Given the description of an element on the screen output the (x, y) to click on. 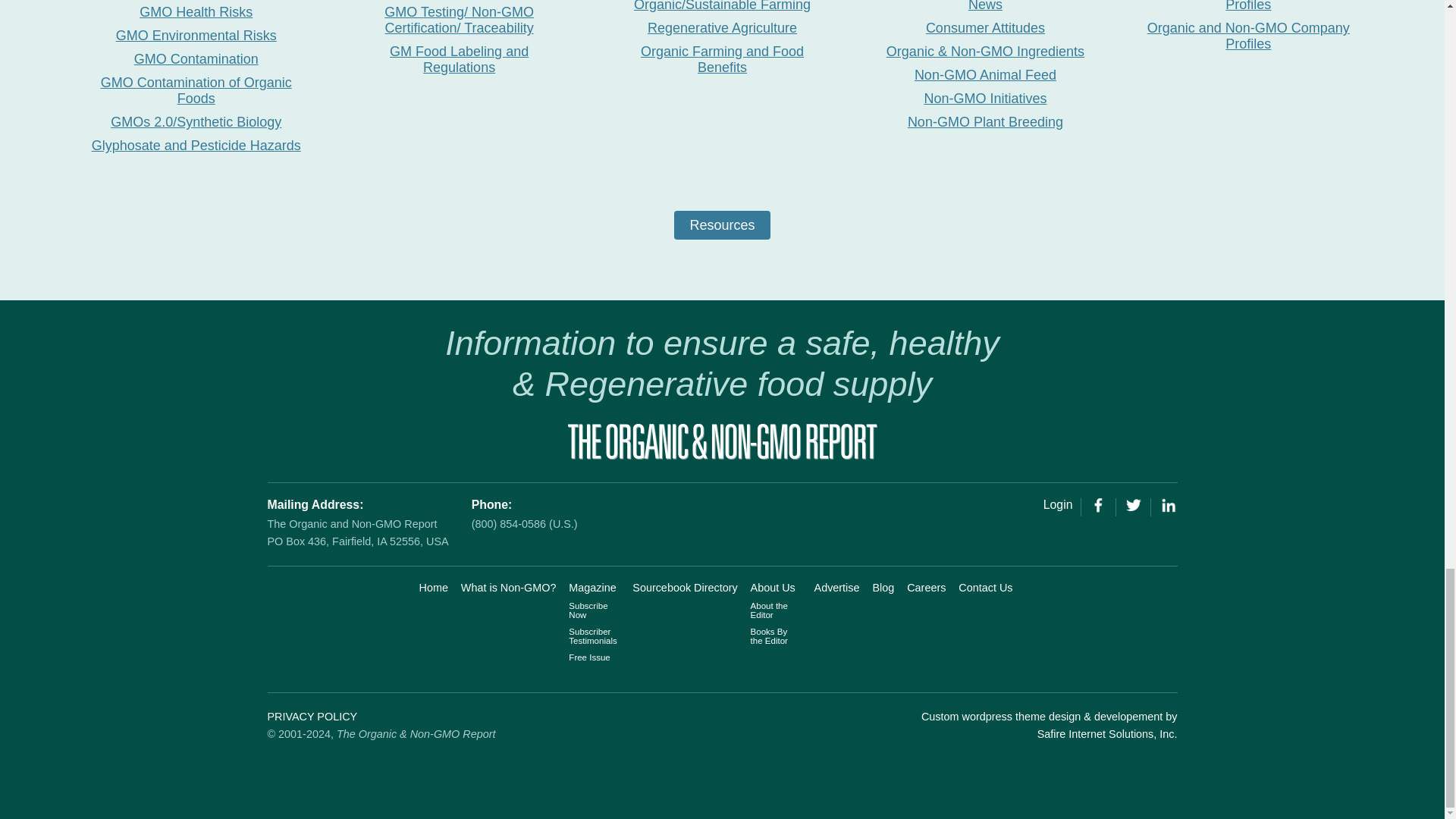
Free Issue (589, 656)
What is Non-GMO? (508, 587)
Contact Us (984, 587)
Sourcebook Directory (683, 587)
About the Editor (769, 610)
About Us (772, 587)
Subscriber Testimonials (592, 636)
Careers (925, 587)
Books By the Editor (769, 636)
Advertise (836, 587)
